Given the description of an element on the screen output the (x, y) to click on. 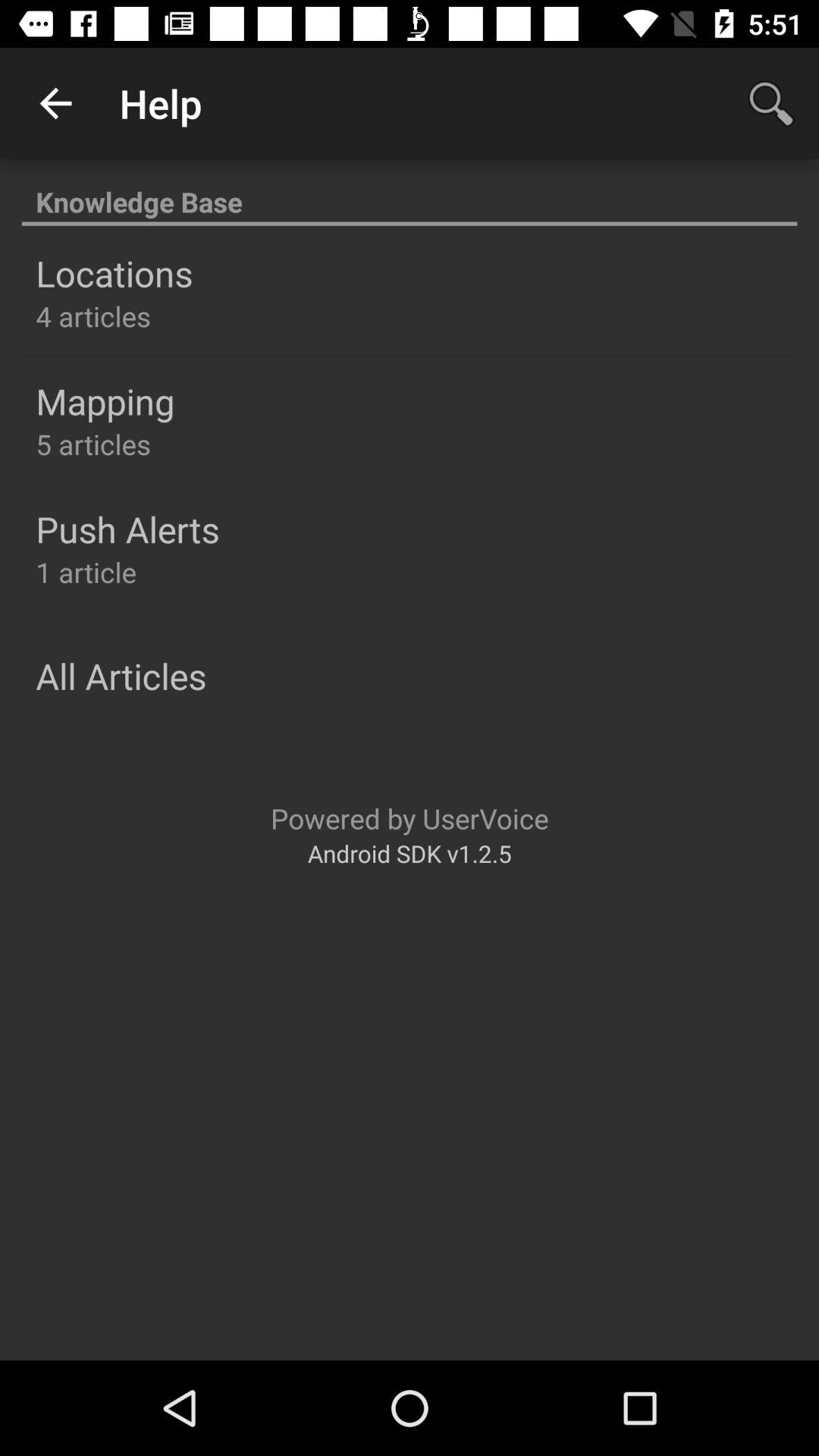
select 4 articles (92, 315)
